Given the description of an element on the screen output the (x, y) to click on. 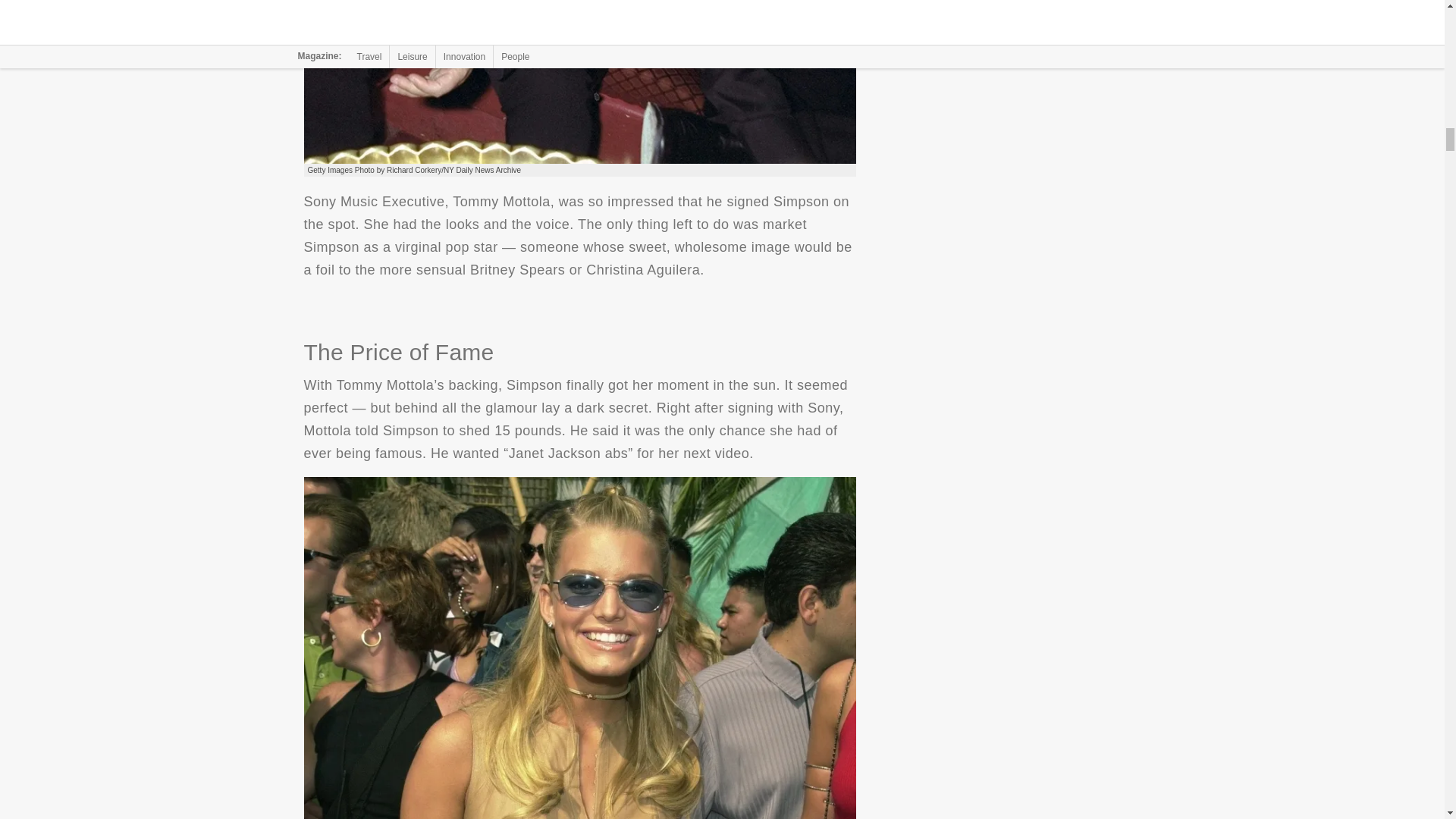
The Sweet New Face of Teen Girl Pop (579, 81)
